Given the description of an element on the screen output the (x, y) to click on. 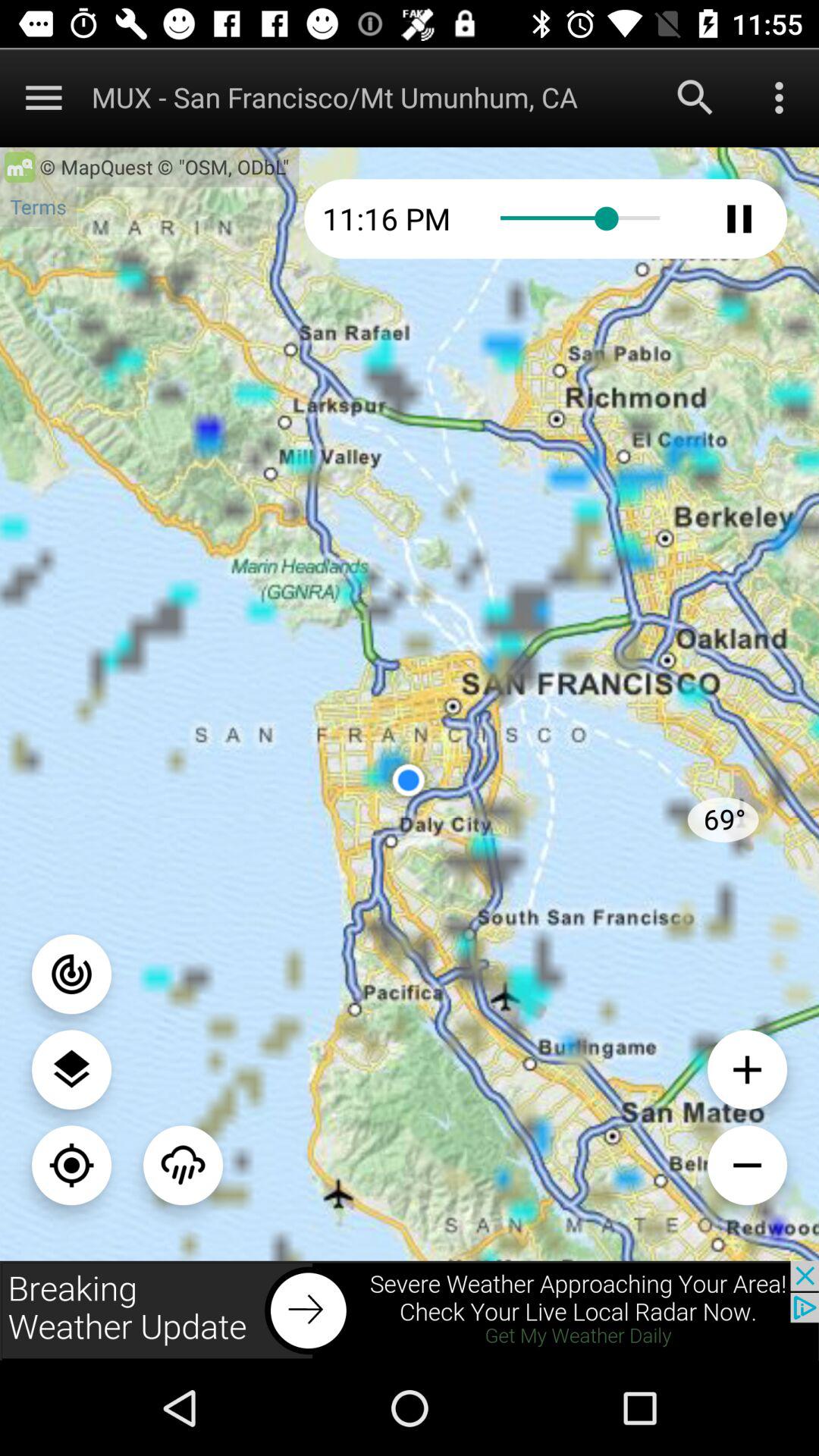
search the option (695, 97)
